Given the description of an element on the screen output the (x, y) to click on. 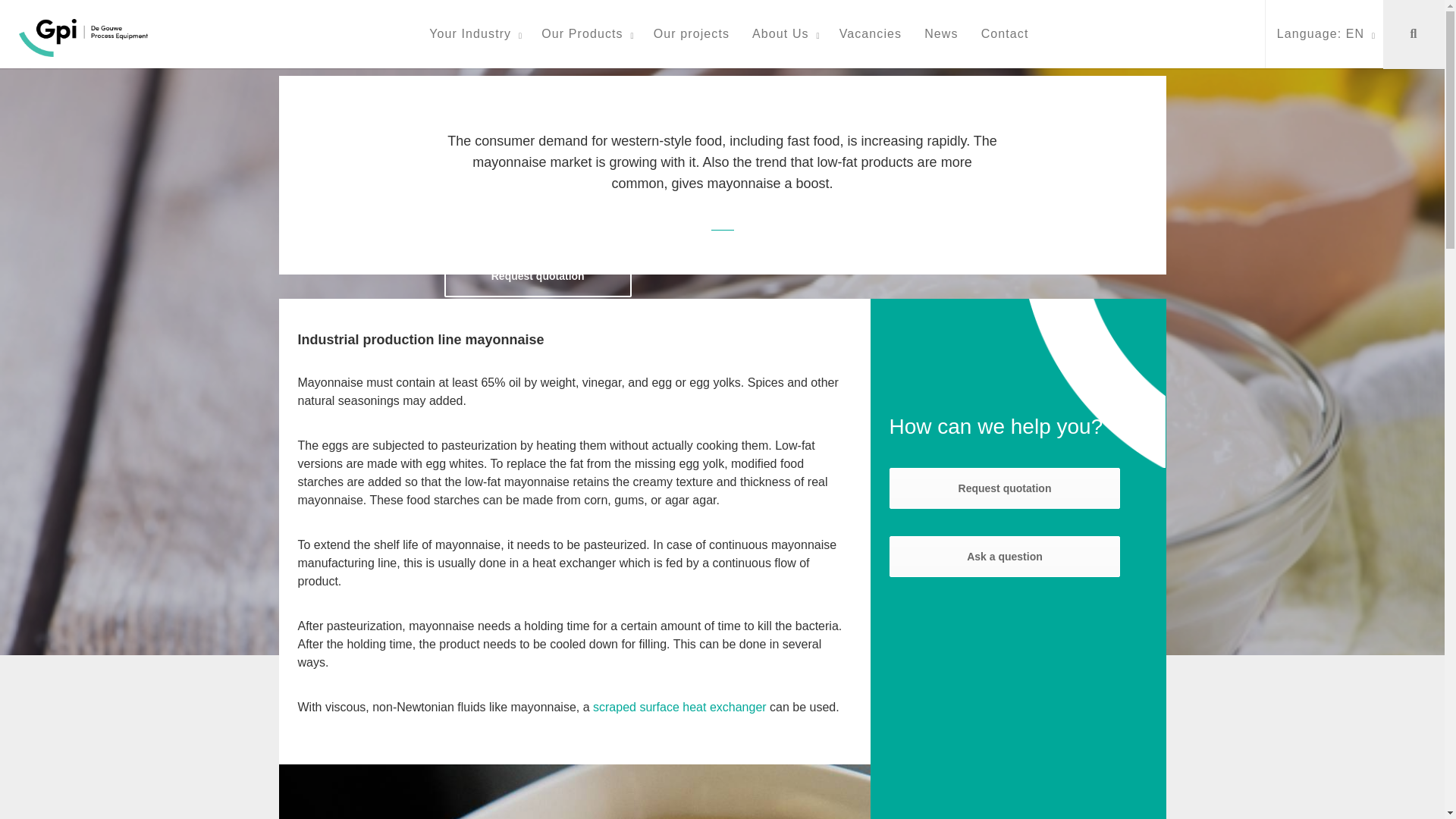
Your Industry (473, 33)
Search (1414, 34)
About us (1003, 556)
Our Products (585, 33)
About us (1003, 487)
mayonaise (574, 791)
EN (1324, 33)
